Given the description of an element on the screen output the (x, y) to click on. 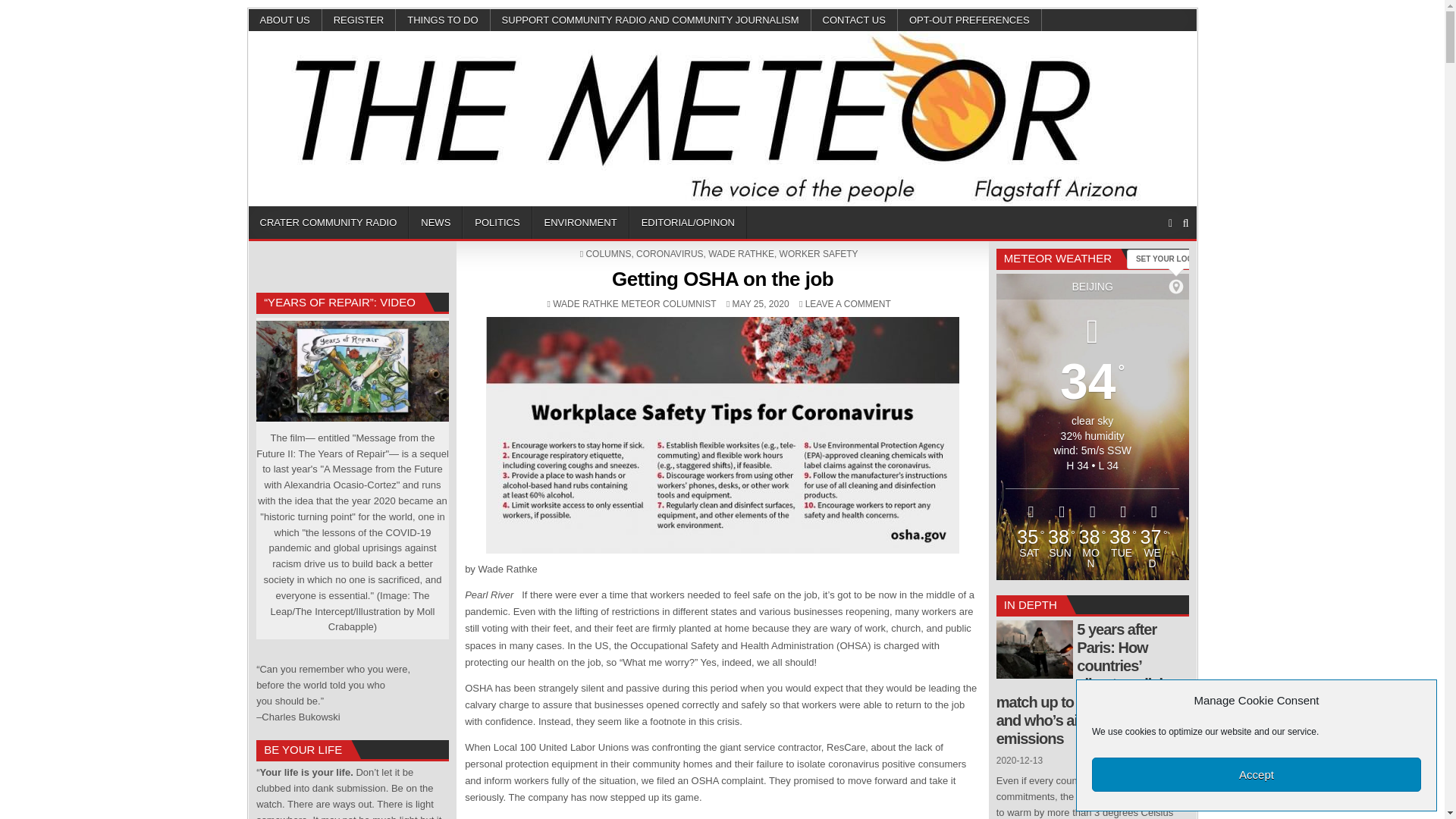
ENVIRONMENT (580, 222)
OPT-OUT PREFERENCES (970, 20)
POLITICS (497, 222)
SUPPORT COMMUNITY RADIO AND COMMUNITY JOURNALISM (650, 20)
COLUMNS (607, 253)
REGISTER (358, 20)
WADE RATHKE METEOR COLUMNIST (634, 303)
LEAVE A COMMENT (848, 303)
CORONAVIRUS (669, 253)
CRATER COMMUNITY RADIO (328, 222)
Getting OSHA on the job (721, 278)
Accept (1256, 774)
CONTACT US (854, 20)
THINGS TO DO (442, 20)
WADE RATHKE (740, 253)
